Given the description of an element on the screen output the (x, y) to click on. 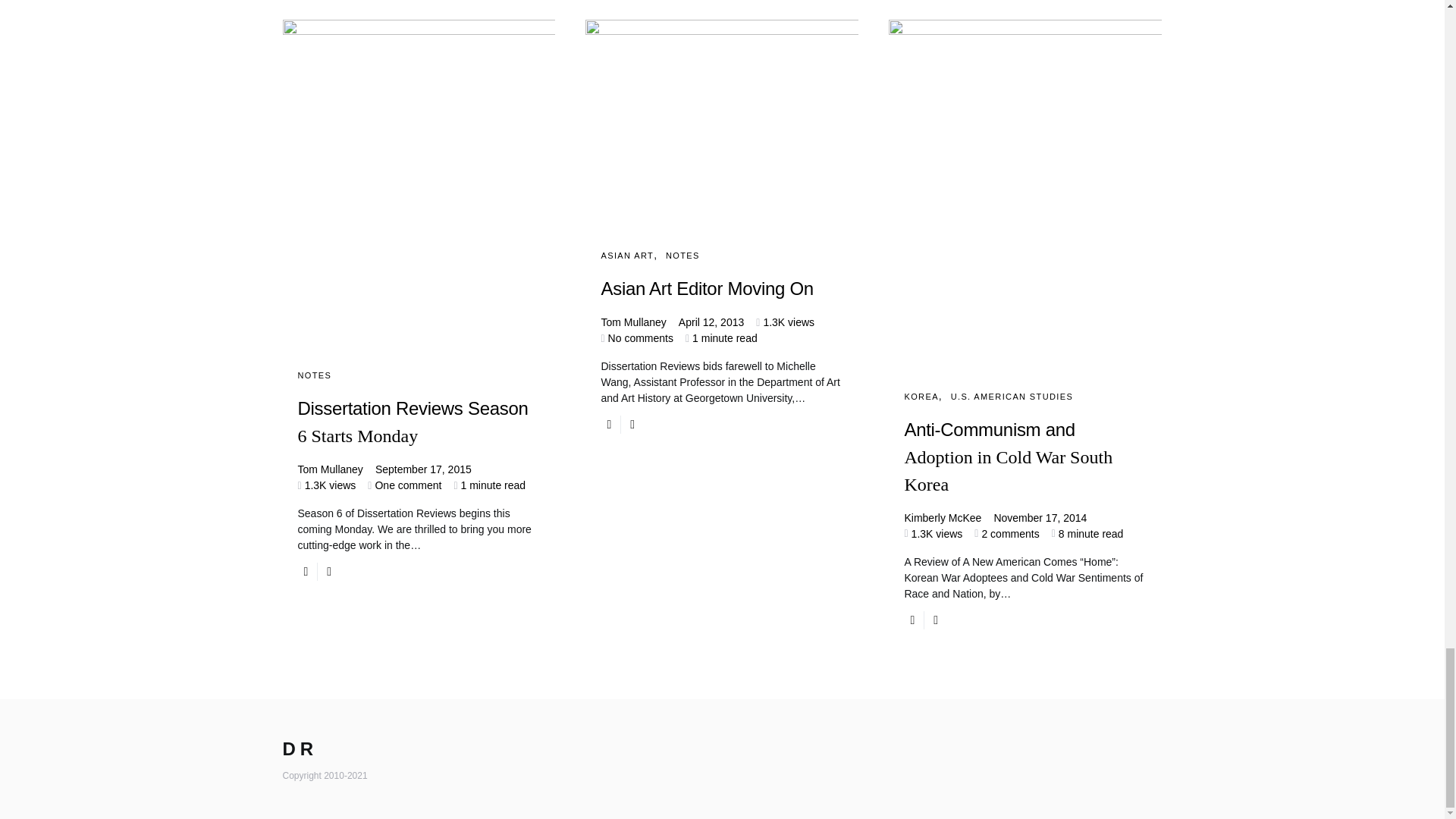
View all posts by Tom Mullaney (632, 322)
Asian Art Editor Moving On (721, 288)
View all posts by Tom Mullaney (329, 469)
Dissertation Reviews Season 6 Starts Monday (418, 435)
